Given the description of an element on the screen output the (x, y) to click on. 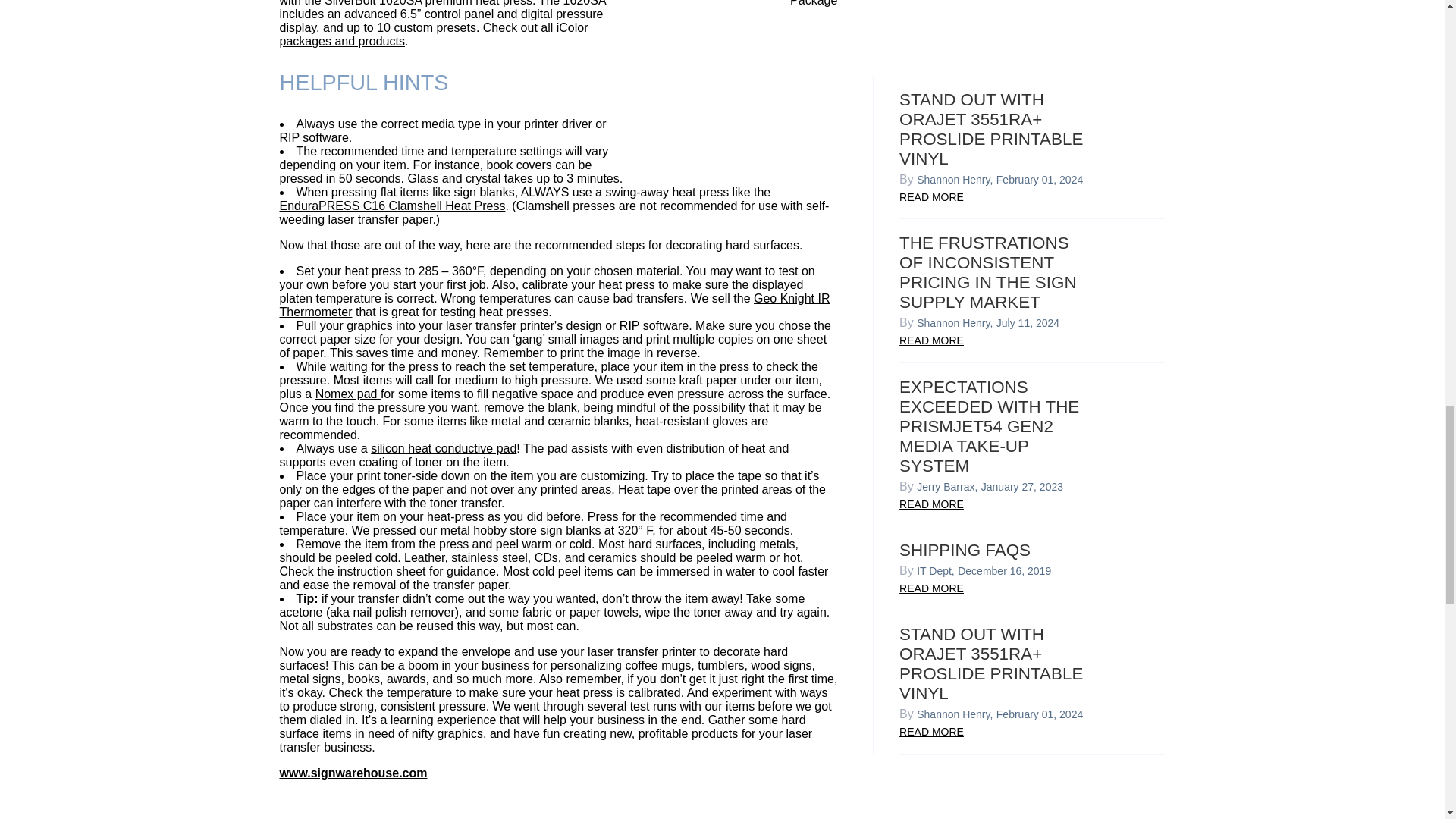
iColor Laser Transfer equipment and products (433, 34)
EnduraPRESS CS16 Clamshell Heat Press (392, 205)
SignWarehouse for Equipment and Supplies (352, 772)
